Given the description of an element on the screen output the (x, y) to click on. 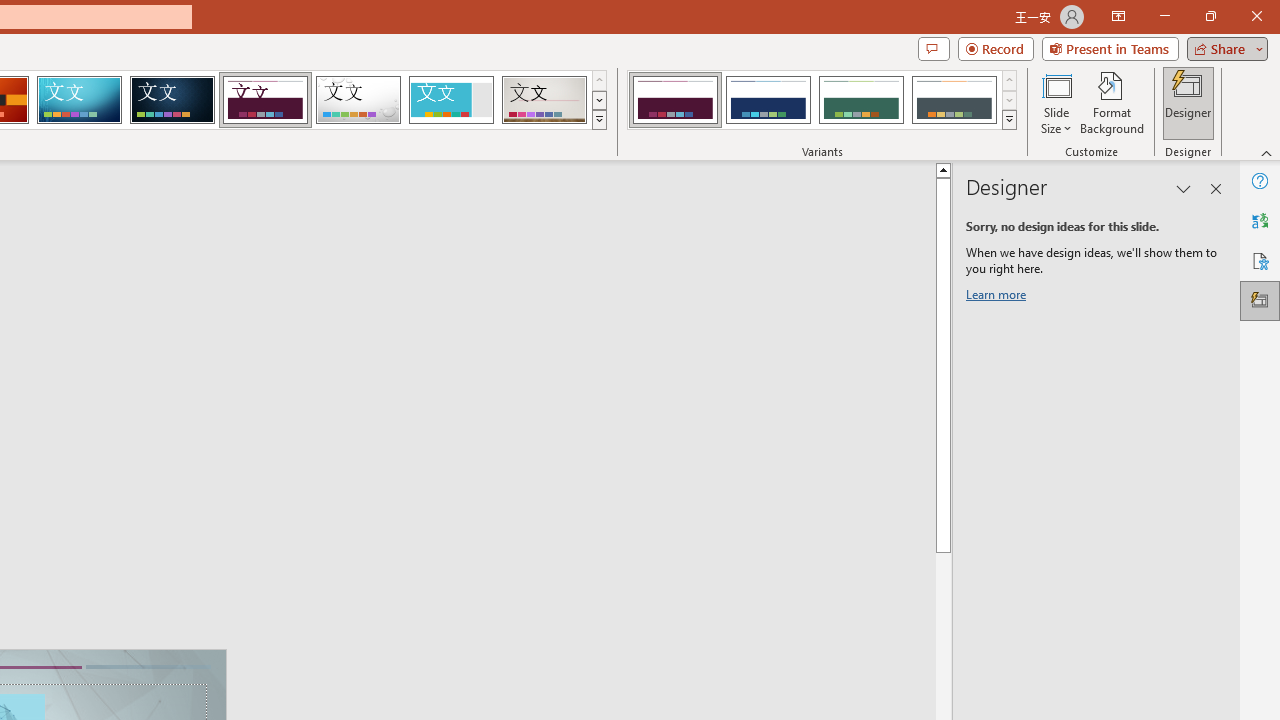
Class: NetUIImage (1009, 119)
Variants (1009, 120)
Dividend Variant 4 (953, 100)
Close (1256, 16)
Comments (933, 48)
Ribbon Display Options (1118, 16)
Circuit (79, 100)
